Given the description of an element on the screen output the (x, y) to click on. 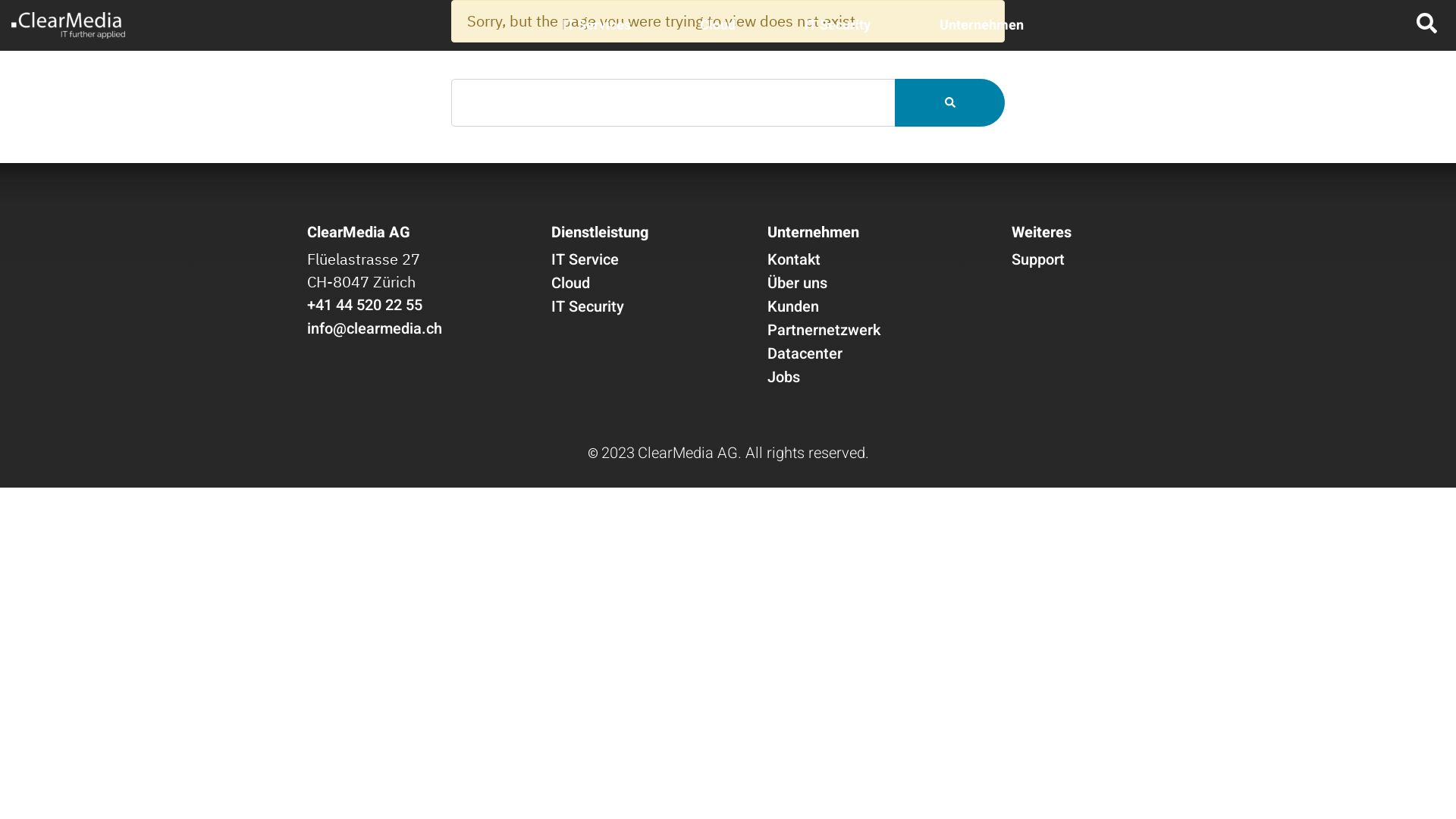
IT Service Element type: text (584, 259)
IT Security Element type: text (587, 306)
2023 Element type: text (616, 450)
Partnernetzwerk Element type: text (823, 330)
Cloud Element type: text (570, 283)
Unternehmen Element type: text (981, 25)
Cloud Element type: text (717, 25)
Kunden Element type: text (793, 306)
Datacenter Element type: text (804, 353)
IT Security Element type: text (837, 25)
Support Element type: text (1037, 259)
Kontakt Element type: text (793, 259)
IT Services Element type: text (596, 25)
Homepage Element type: hover (68, 25)
info@clearmedia.ch Element type: text (374, 328)
+41 44 520 22 55 Element type: text (364, 305)
ClearMedia AG. All rights reserved. Element type: text (752, 453)
Jobs Element type: text (783, 377)
